Given the description of an element on the screen output the (x, y) to click on. 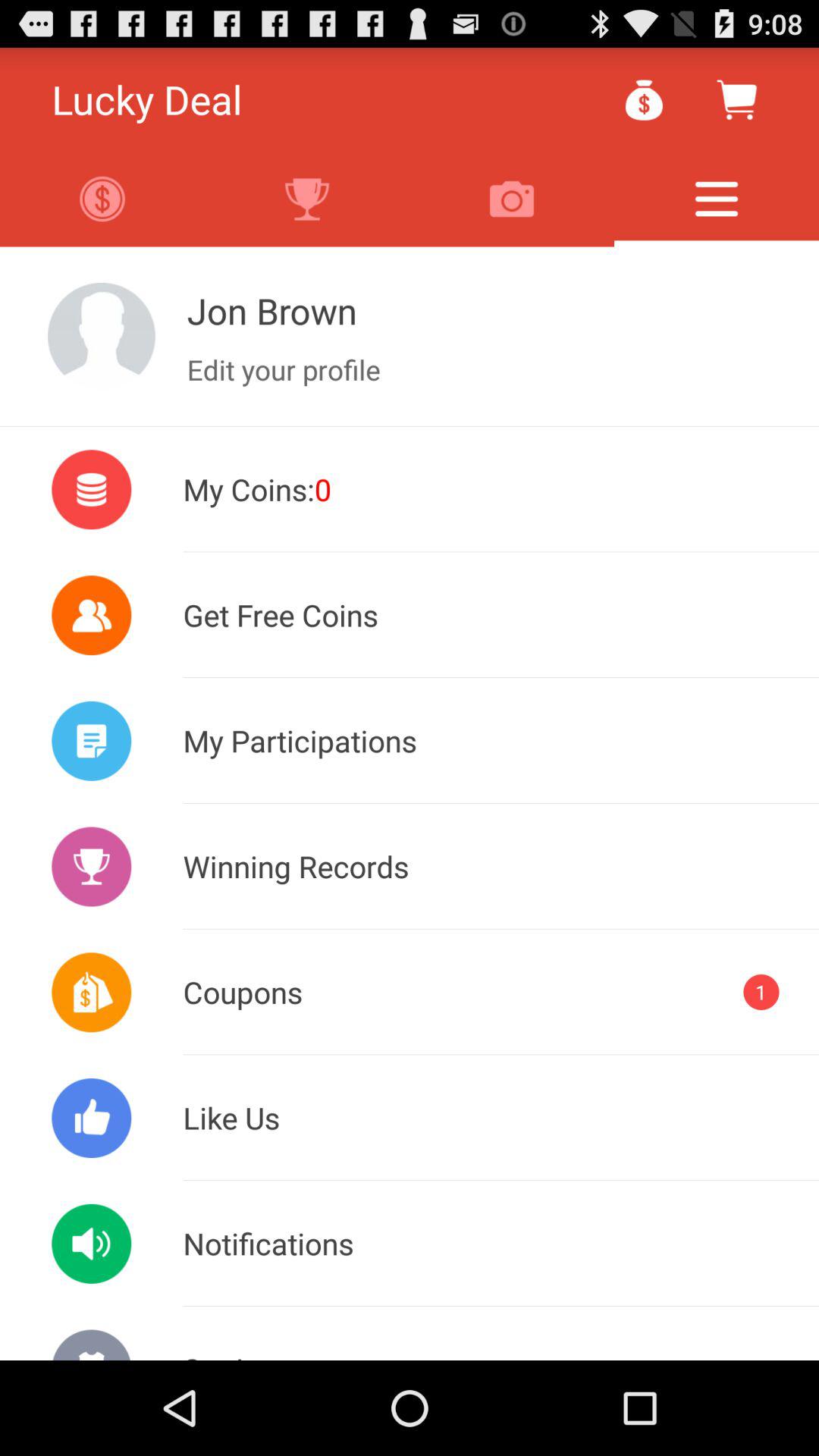
go to the shopping cart (736, 99)
